Given the description of an element on the screen output the (x, y) to click on. 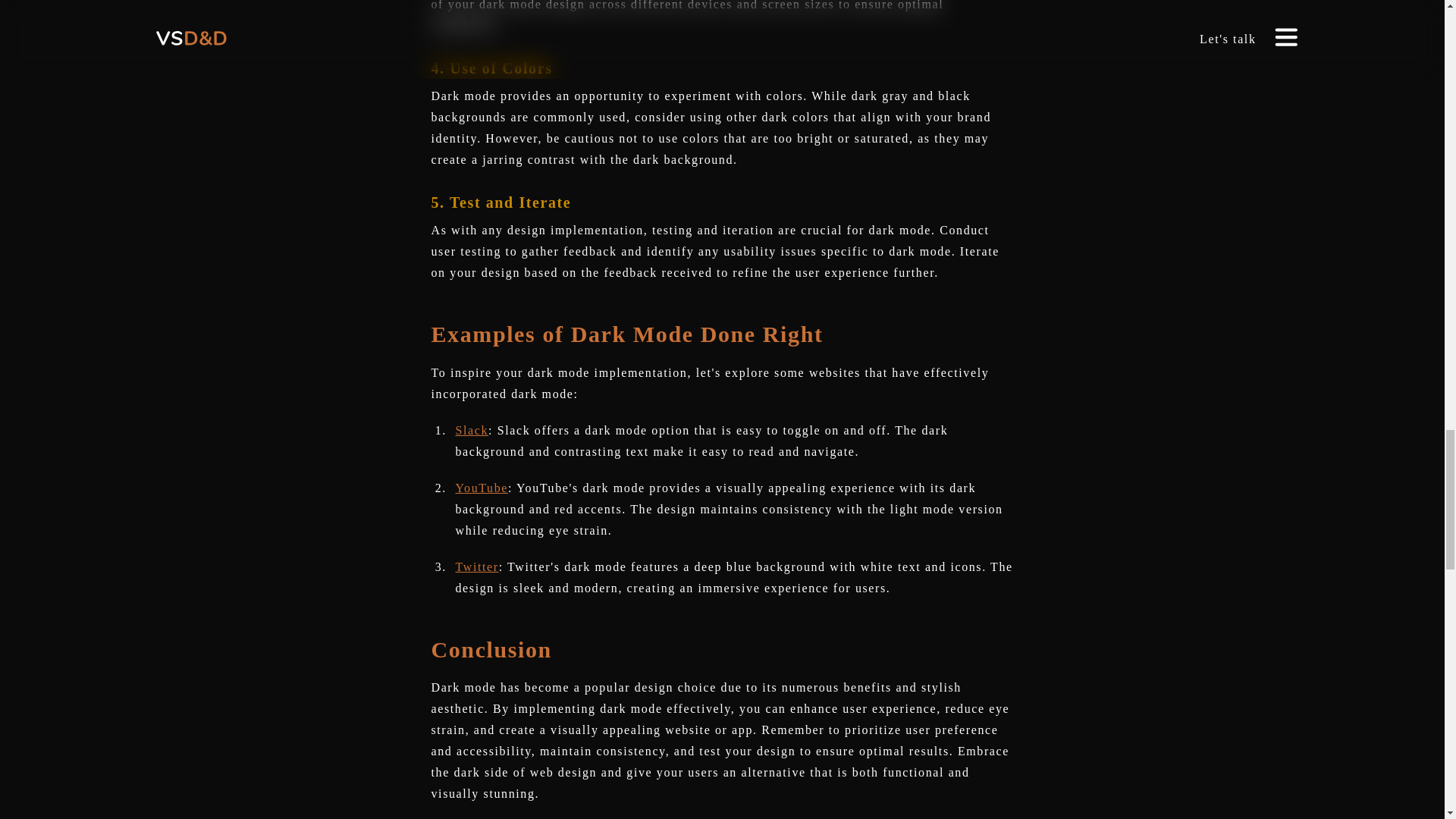
YouTube (480, 487)
Twitter (475, 566)
Slack (470, 430)
